Given the description of an element on the screen output the (x, y) to click on. 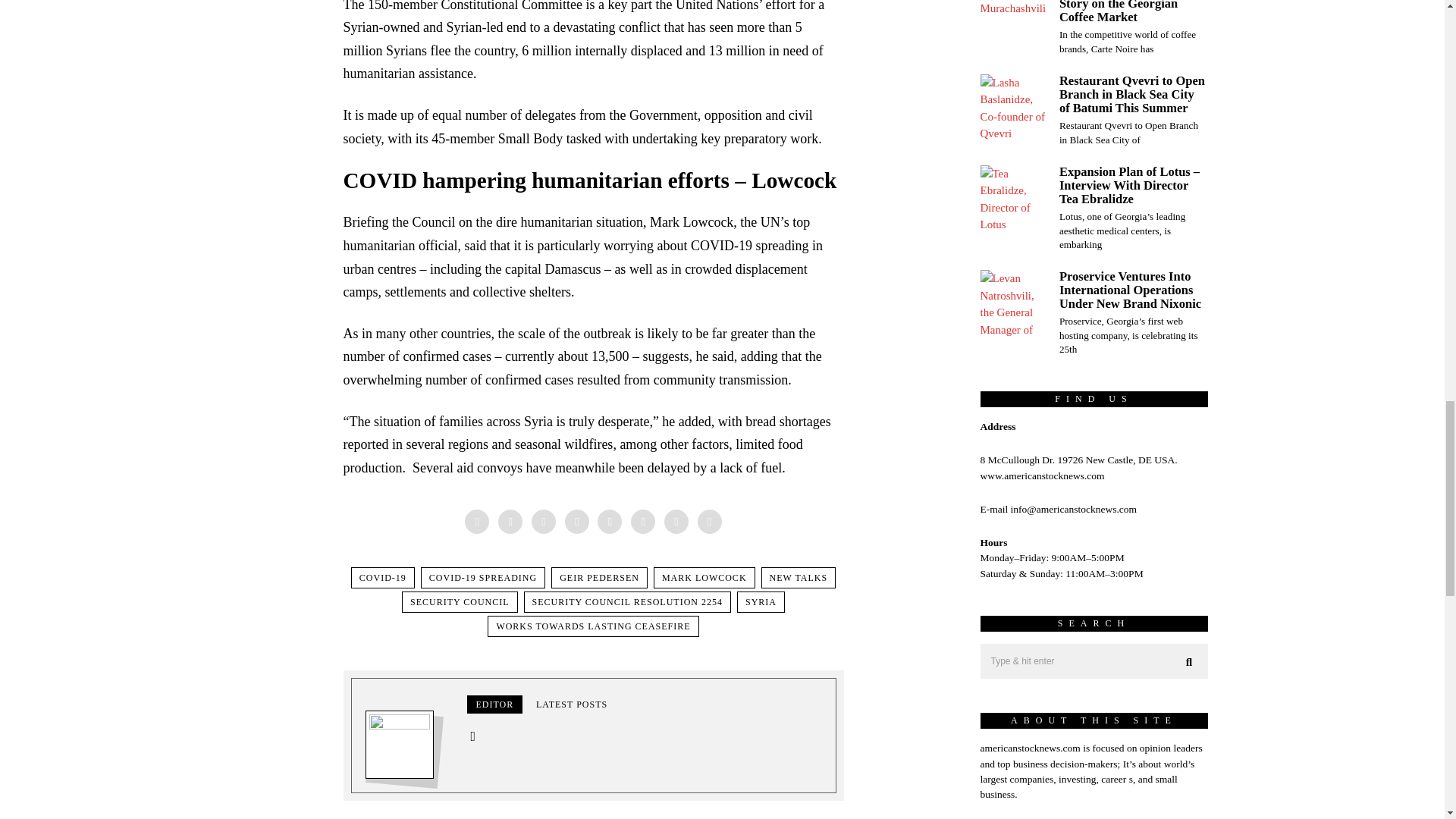
Pinterest (576, 521)
Twitter (543, 521)
Facebook (476, 521)
Messenger (509, 521)
Linkedin (608, 521)
